Given the description of an element on the screen output the (x, y) to click on. 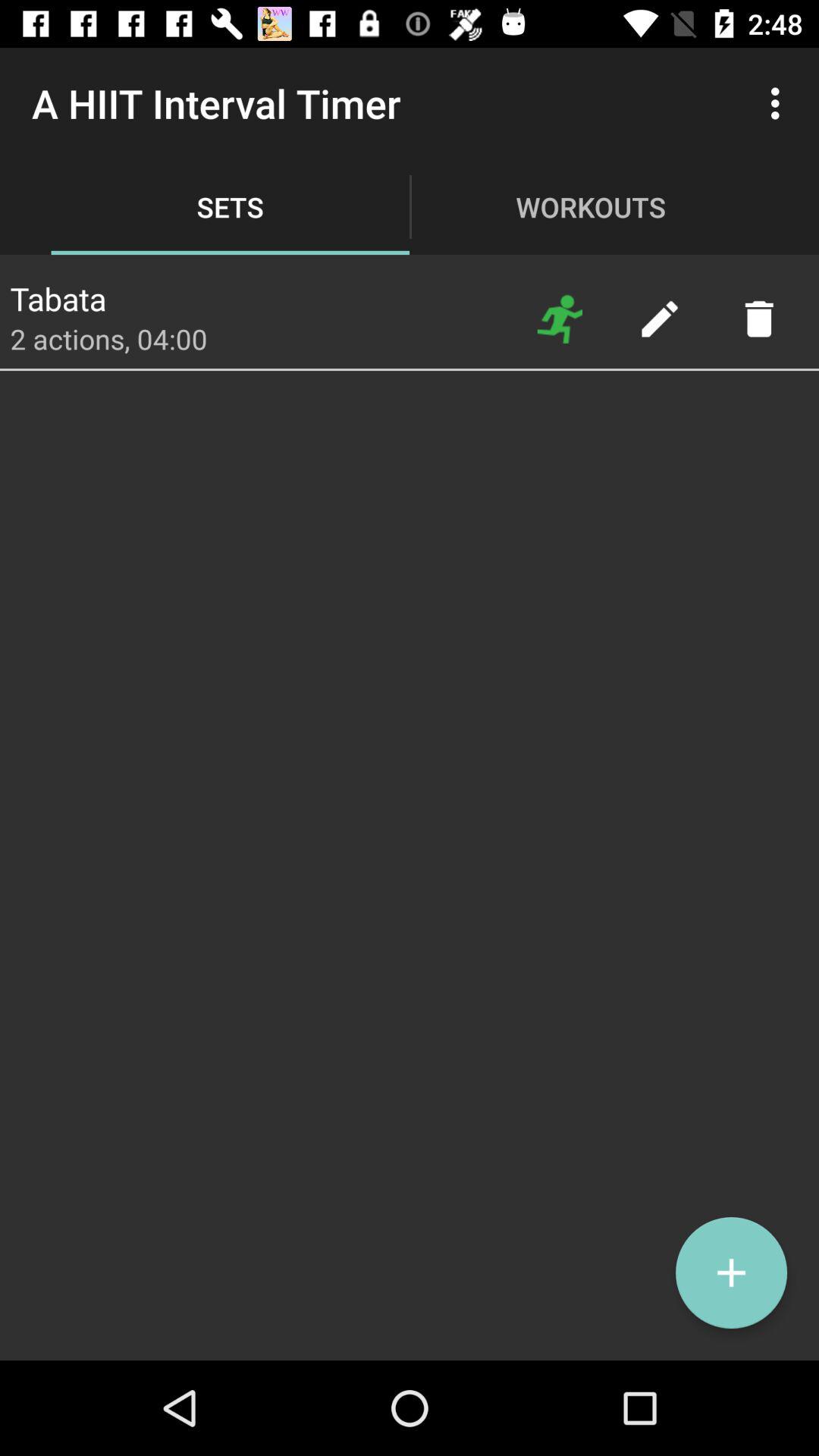
tap icon to the left of sets item (58, 294)
